Given the description of an element on the screen output the (x, y) to click on. 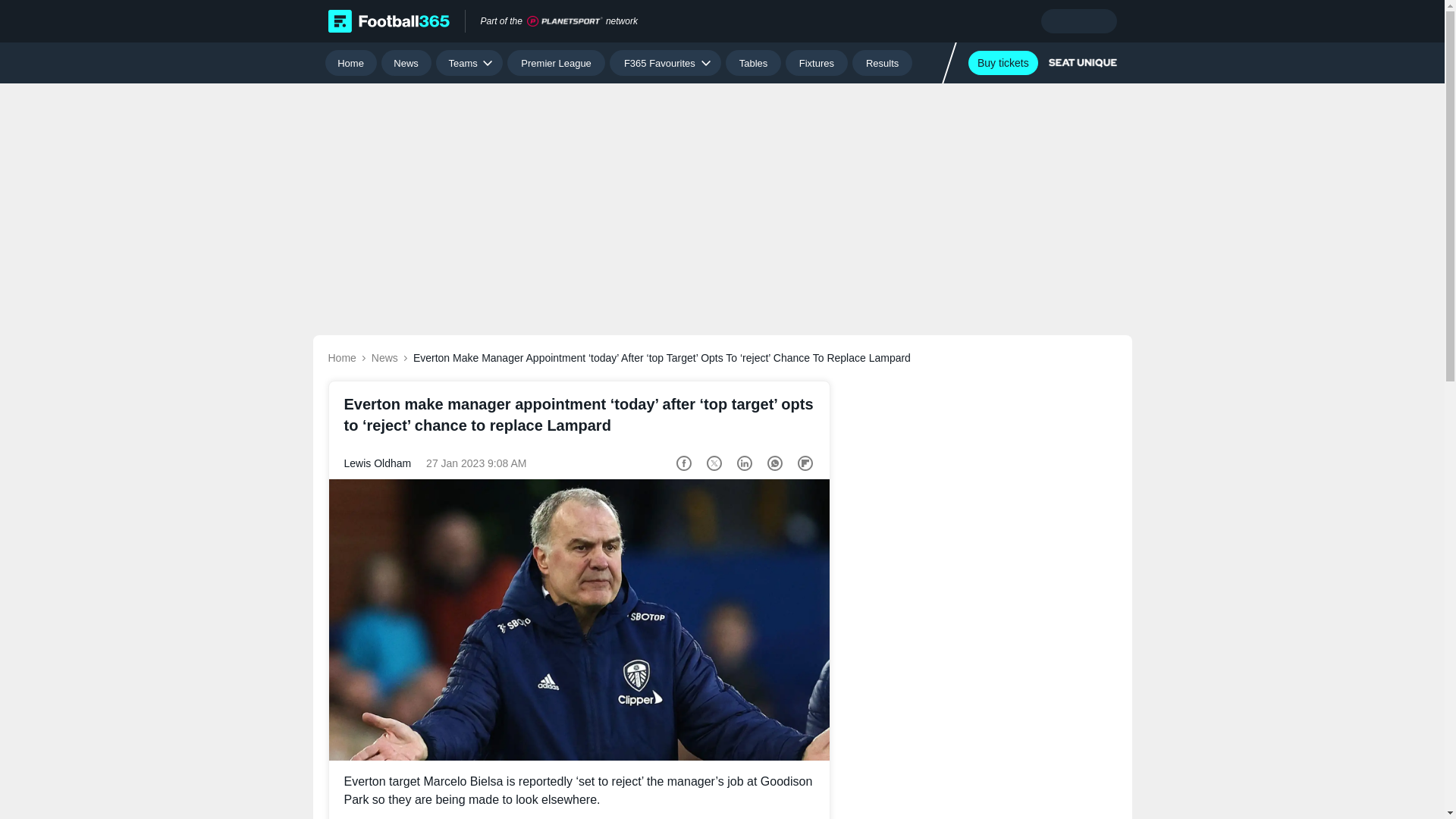
News (405, 62)
Premier League (555, 62)
Home (349, 62)
F365 Favourites (665, 62)
Teams (468, 62)
Results (881, 62)
Fixtures (817, 62)
Tables (752, 62)
Buy tickets (1003, 62)
